Given the description of an element on the screen output the (x, y) to click on. 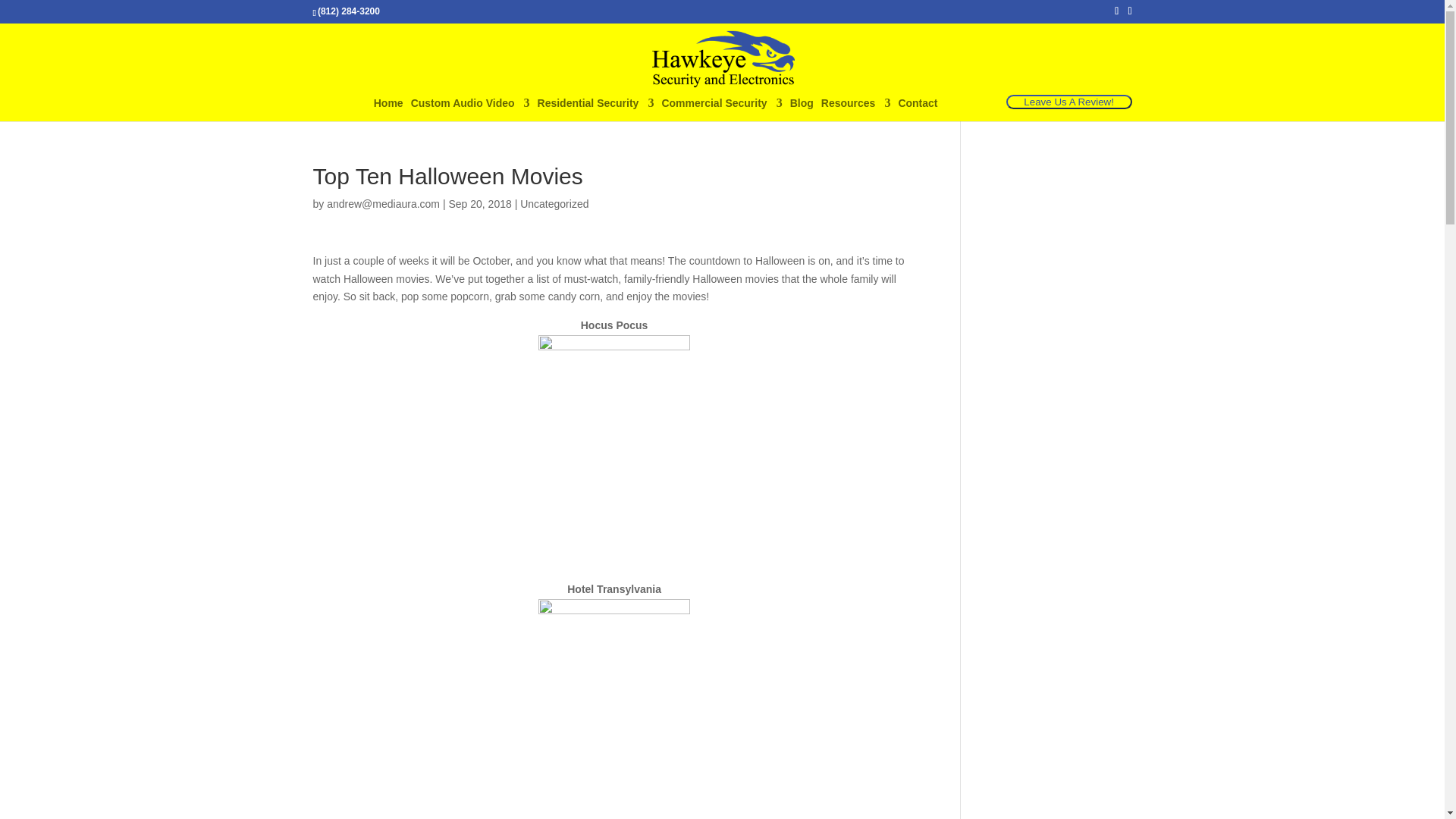
Leave Us A Review! (1068, 101)
Home (388, 109)
Custom Audio Video (469, 109)
Leave Us A Review! (1069, 101)
Residential Security (595, 109)
